Given the description of an element on the screen output the (x, y) to click on. 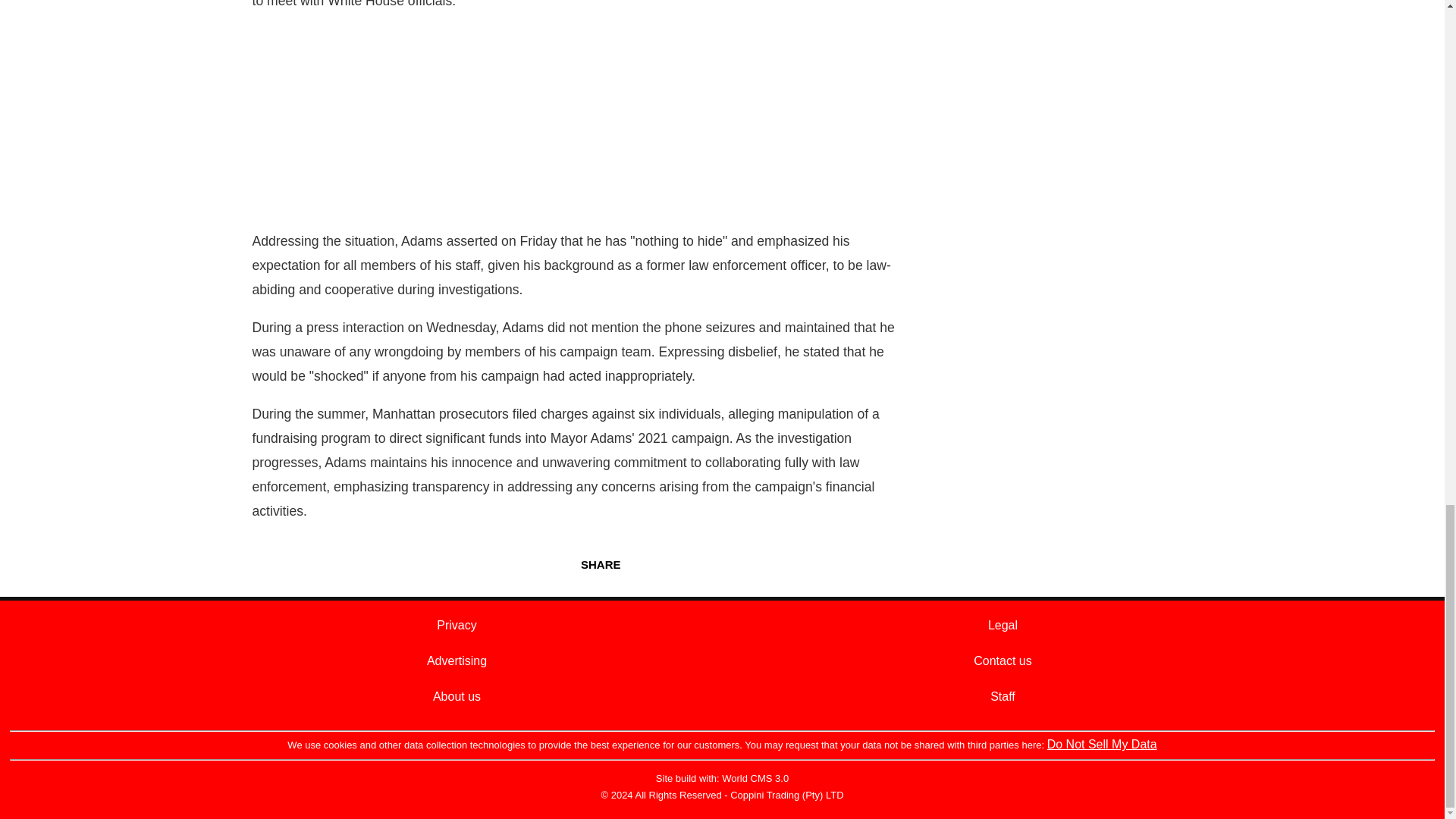
Privacy (456, 625)
Contact us (1002, 660)
Legal (1002, 625)
Advertising (456, 660)
